Given the description of an element on the screen output the (x, y) to click on. 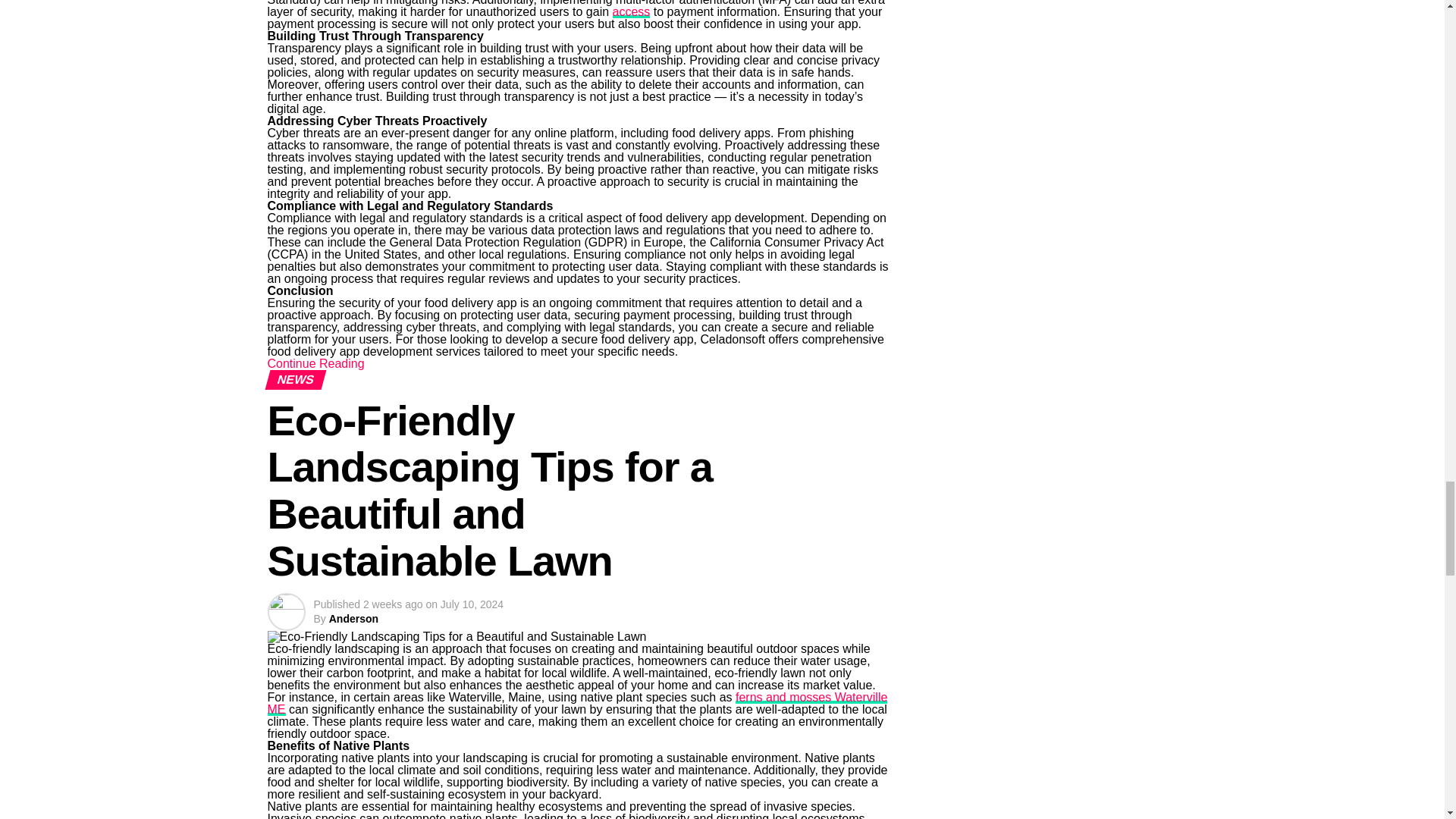
Posts by Anderson (353, 618)
